Given the description of an element on the screen output the (x, y) to click on. 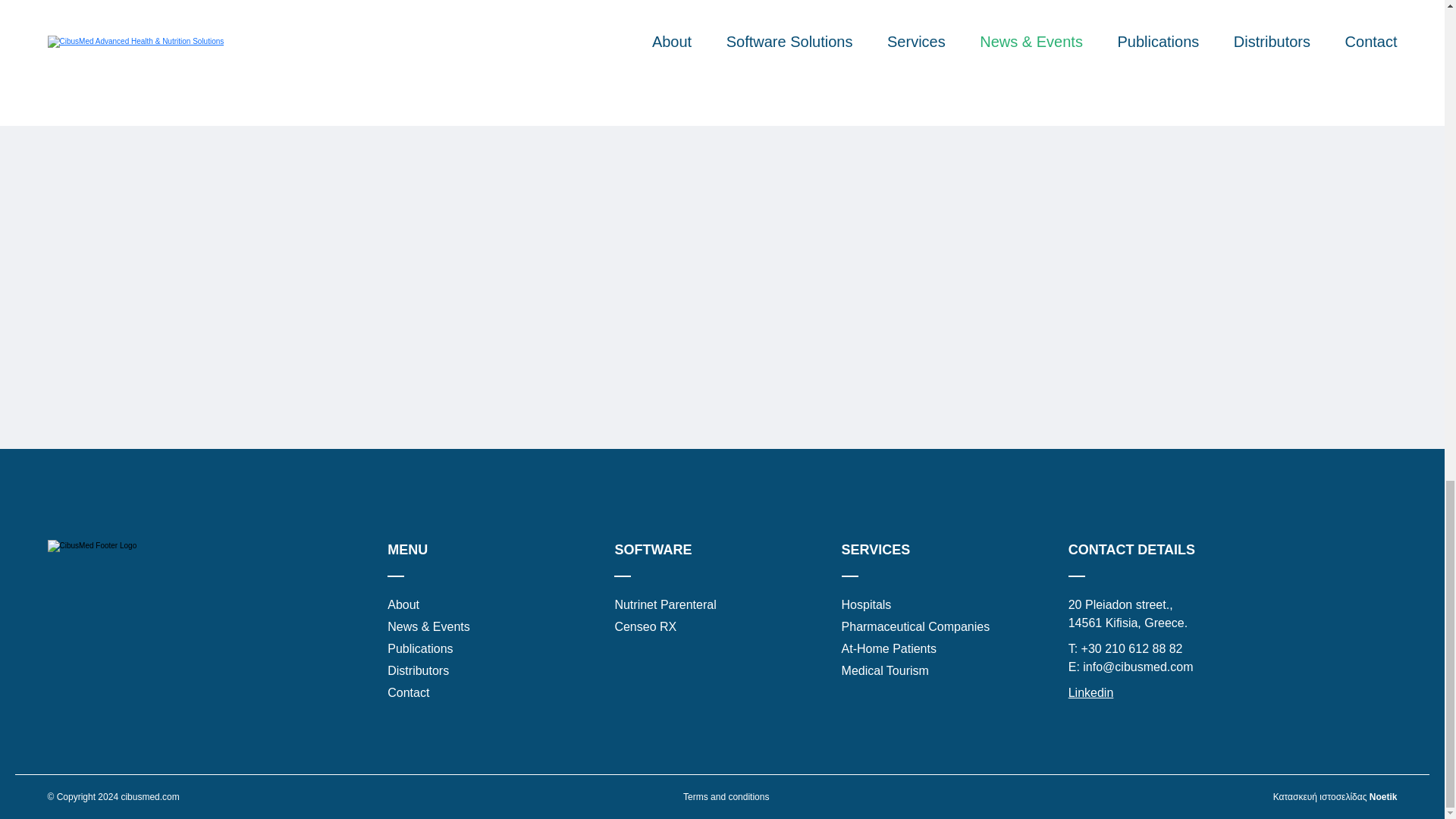
Distributors (417, 670)
Medical Tourism (884, 670)
Terms and conditions (725, 796)
Publications (419, 648)
About (403, 605)
Linkedin (1090, 692)
Noetik (1383, 796)
Nutrinet Parenteral (665, 605)
At-Home Patients (888, 648)
Censeo RX (645, 627)
Pharmaceutical Companies (915, 627)
Contact (408, 692)
Hospitals (866, 605)
